Given the description of an element on the screen output the (x, y) to click on. 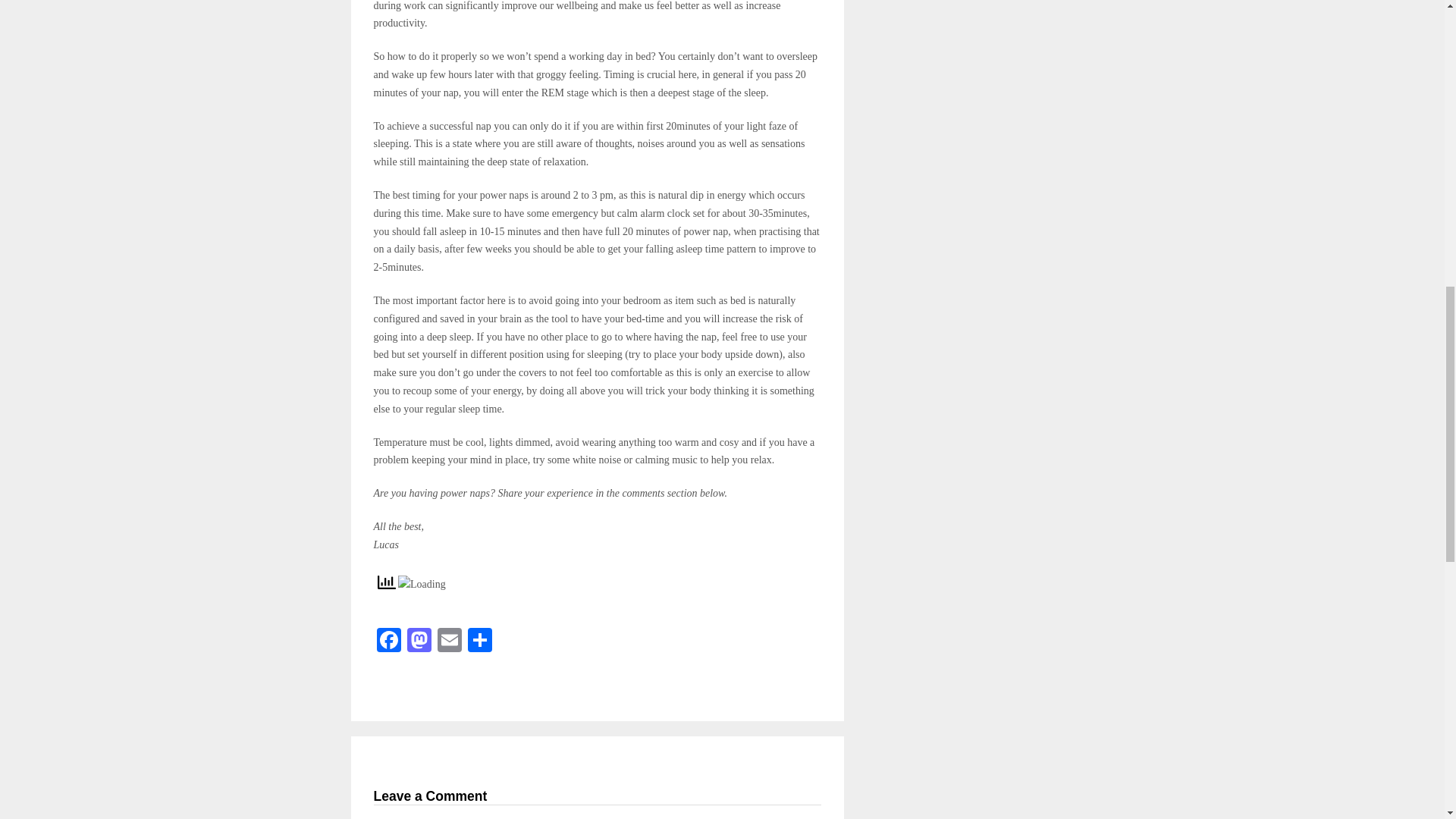
Mastodon (418, 642)
Facebook (387, 642)
Mastodon (418, 642)
Facebook (387, 642)
Email (448, 642)
Share (479, 642)
Email (448, 642)
